Given the description of an element on the screen output the (x, y) to click on. 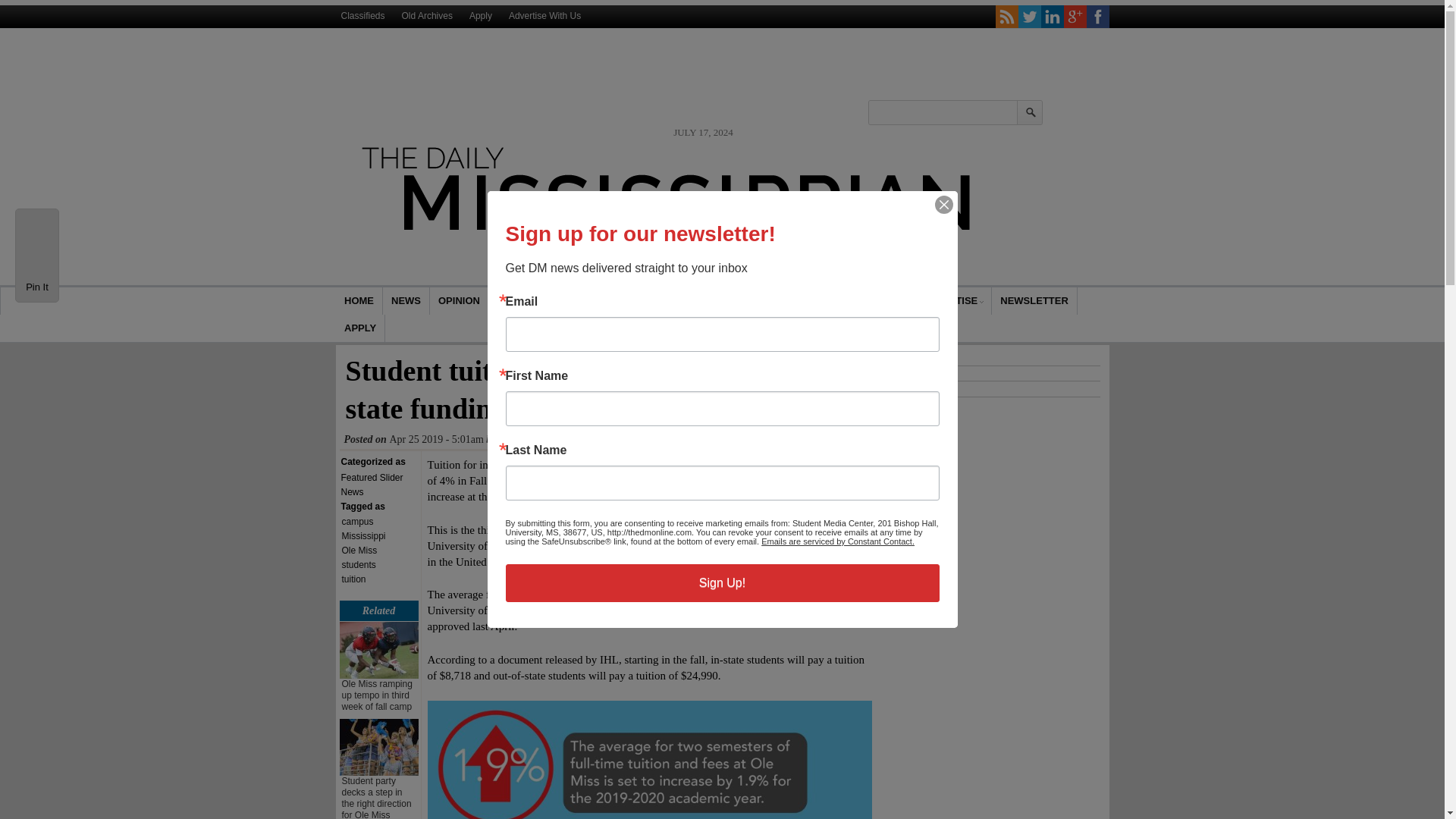
NEWSWATCH (870, 300)
Featured Slider (371, 477)
Ole Miss ramping up tempo in third week of fall camp (376, 694)
linkedin (1051, 15)
NEWSLETTER (1034, 300)
Hadley Hitson (529, 439)
Close (943, 204)
APPLY (360, 327)
Apply (480, 15)
MULTIMEDIA (529, 439)
HOME (785, 300)
Old Archives (358, 300)
